Given the description of an element on the screen output the (x, y) to click on. 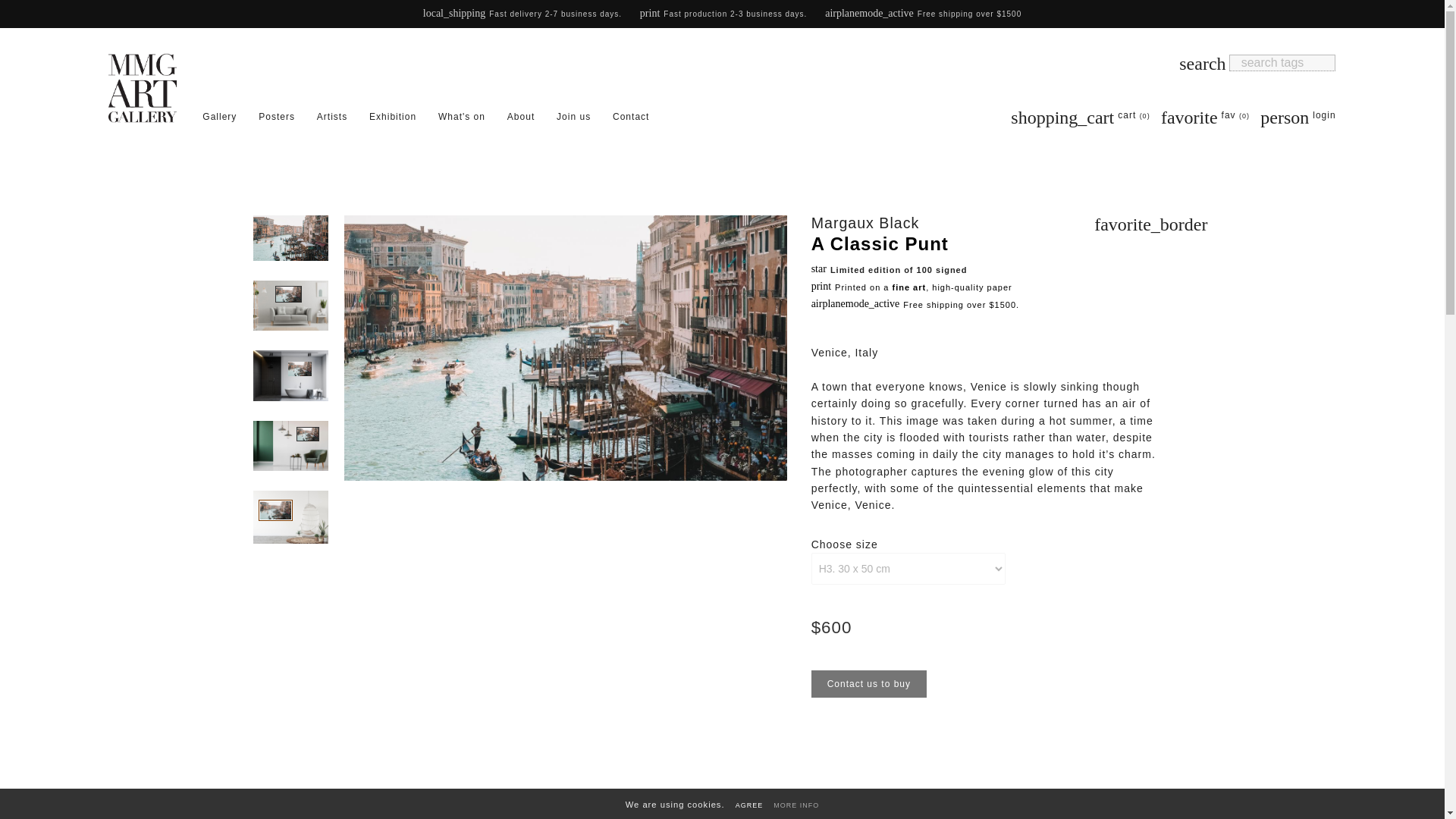
What's on (1297, 115)
MORE INFO (461, 116)
About (795, 805)
Exhibition (520, 116)
Artists (392, 116)
Posters (332, 116)
Gallery (277, 116)
Join us (218, 116)
Fast production 2-3 business days. (573, 116)
